Given the description of an element on the screen output the (x, y) to click on. 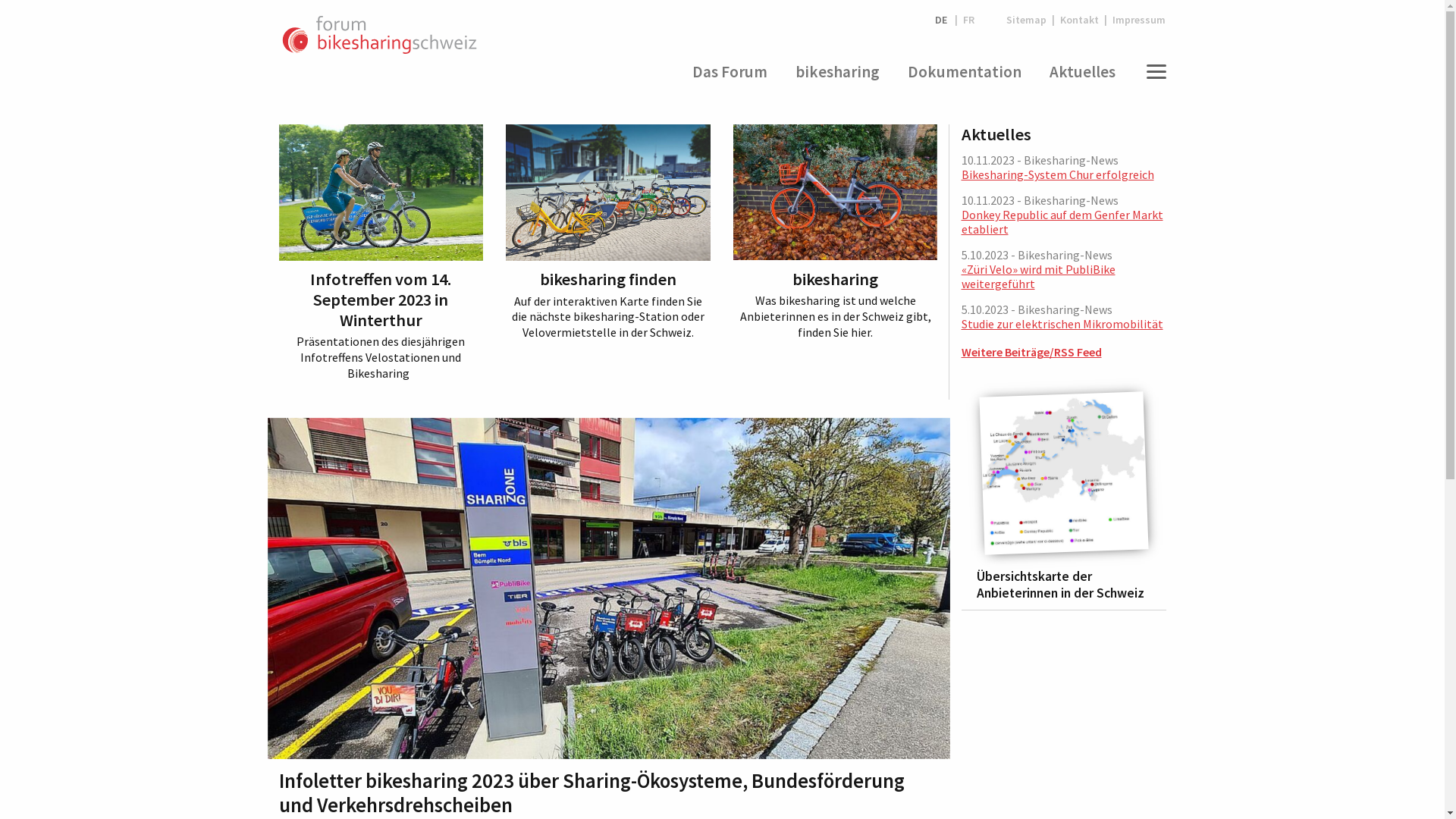
Kontakt Element type: text (1079, 19)
MENU Element type: text (1152, 71)
Bikesharing-System Chur erfolgreich Element type: text (1057, 174)
Aktuelles Element type: text (1082, 71)
FR Element type: text (968, 19)
Das Forum Element type: text (729, 71)
bikesharing Element type: text (837, 71)
Dokumentation Element type: text (964, 71)
Forum Bikesharing Schweiz Element type: hover (379, 35)
Impressum Element type: text (1136, 19)
Donkey Republic auf dem Genfer Markt etabliert Element type: text (1062, 221)
Sitemap Element type: text (1026, 19)
